Given the description of an element on the screen output the (x, y) to click on. 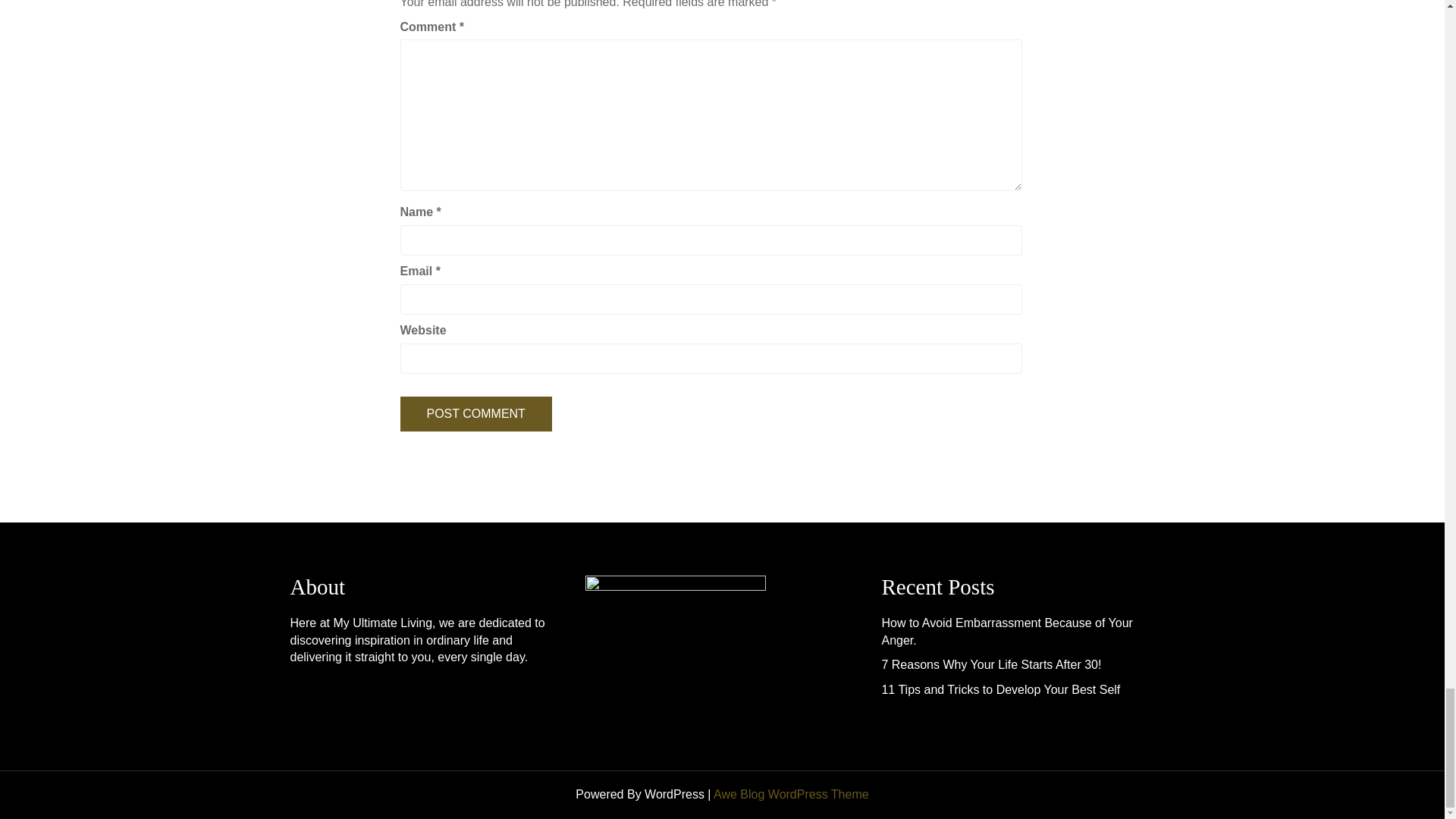
Post Comment (475, 413)
Post Comment (475, 413)
11 Tips and Tricks to Develop Your Best Self (999, 689)
Awe Blog WordPress Theme (791, 793)
How to Avoid Embarrassment Because of Your Anger. (1006, 631)
7 Reasons Why Your Life Starts After 30! (990, 664)
